Given the description of an element on the screen output the (x, y) to click on. 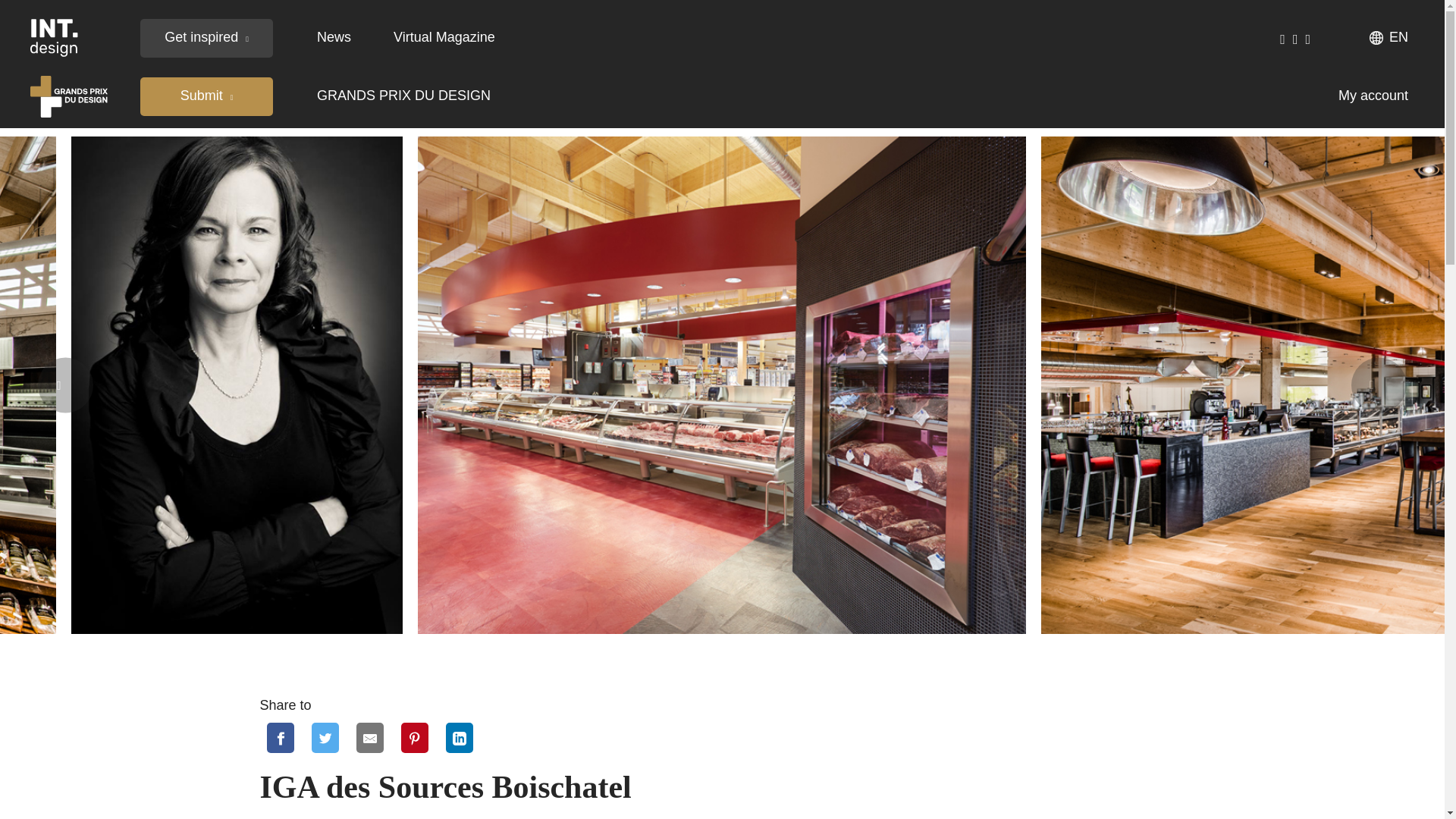
My account (1372, 96)
GRANDS PRIX DU DESIGN (403, 96)
EN (1388, 37)
News (333, 37)
Get inspired (206, 37)
Submit (206, 96)
Virtual Magazine (443, 37)
